Given the description of an element on the screen output the (x, y) to click on. 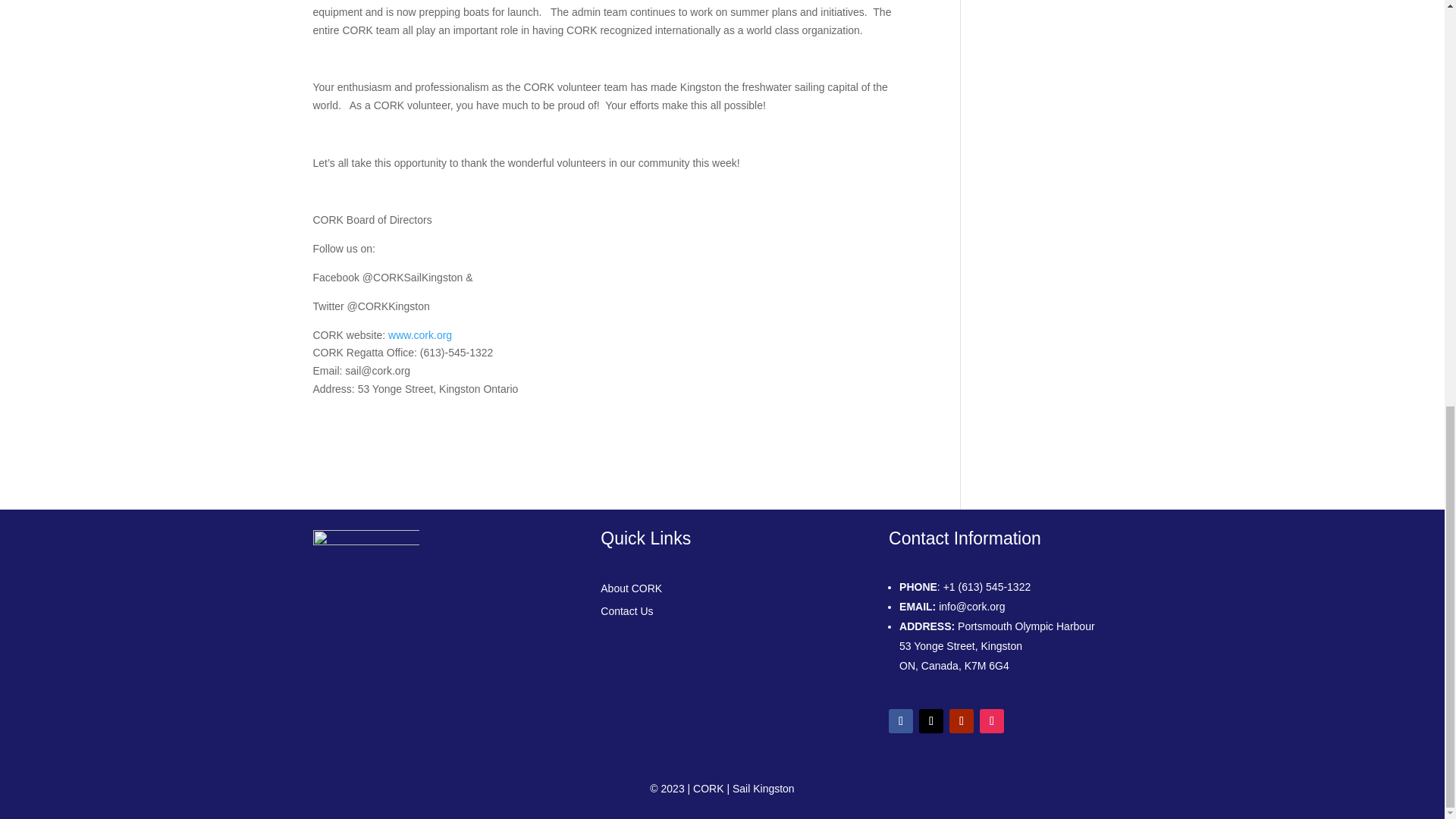
Follow on X (930, 721)
Follow on Youtube (961, 721)
Follow on Instagram (991, 721)
CORKlogo-white (366, 585)
Follow on Facebook (900, 721)
